Given the description of an element on the screen output the (x, y) to click on. 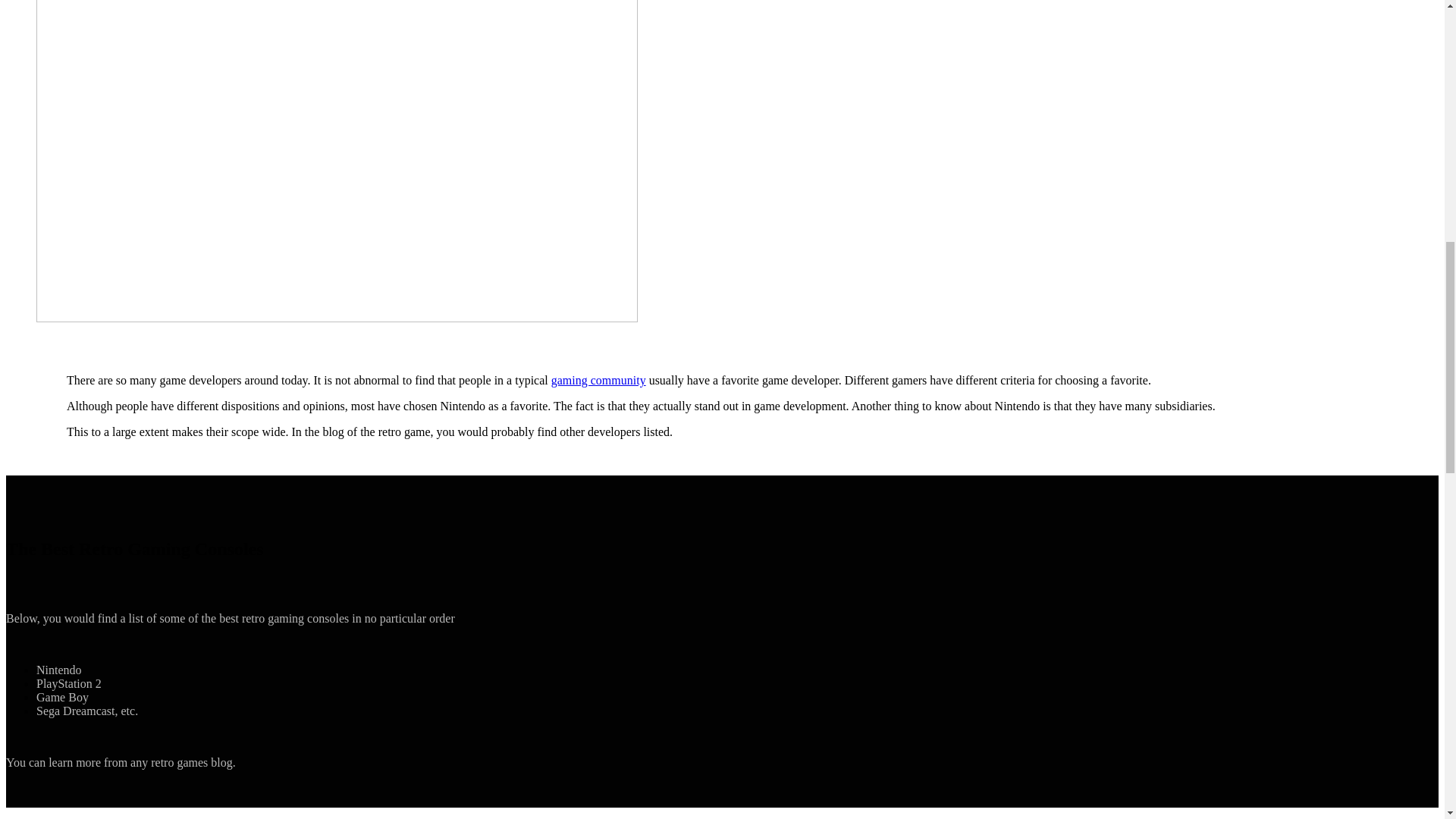
gaming community (598, 379)
